Given the description of an element on the screen output the (x, y) to click on. 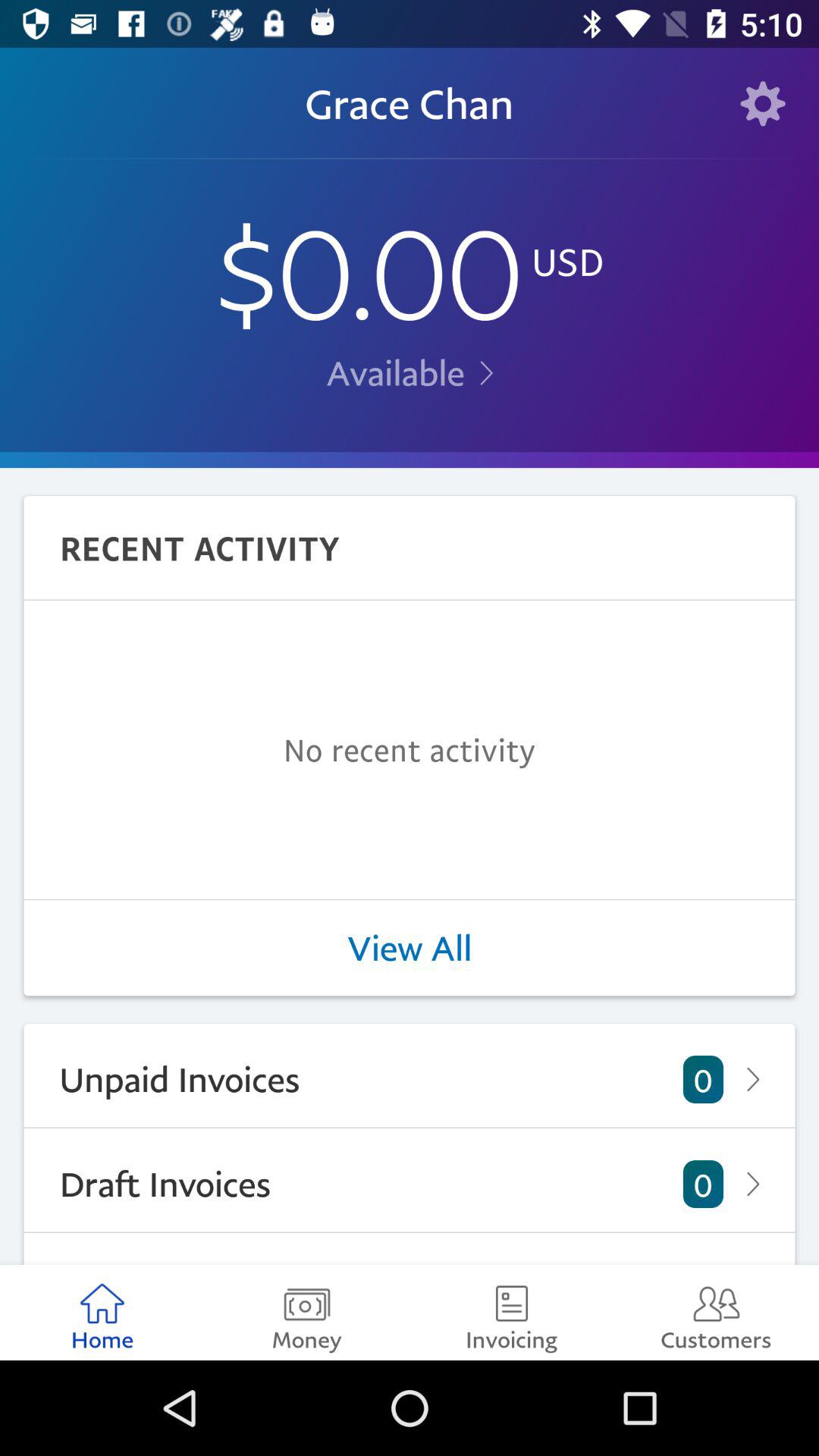
select icon above 0 icon (409, 947)
